Given the description of an element on the screen output the (x, y) to click on. 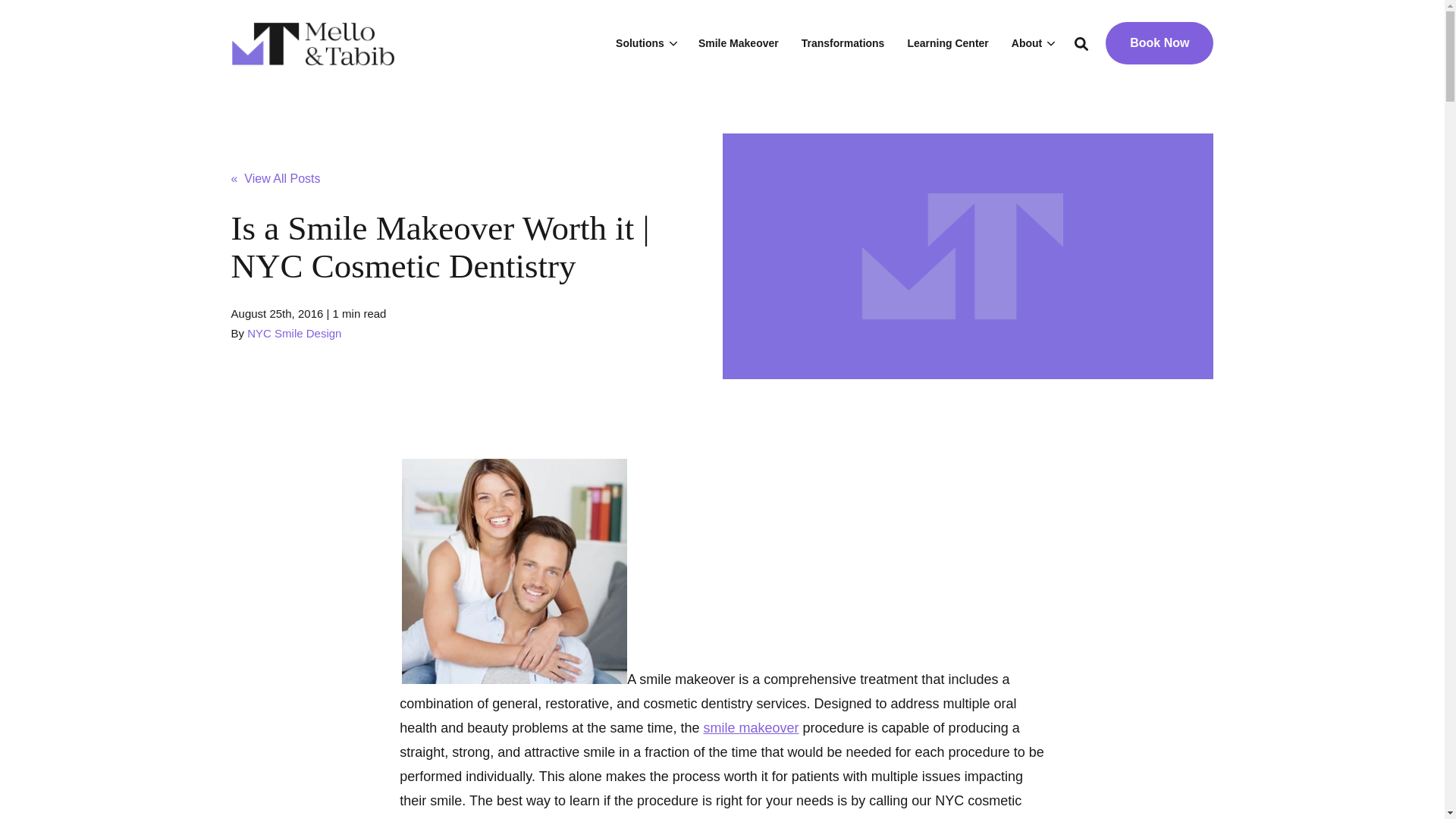
Transformations (843, 42)
Smile Makeover (738, 42)
Book Now (1158, 43)
NYC Smile Design (293, 332)
Learning Center (946, 42)
Open Search (1080, 42)
